Given the description of an element on the screen output the (x, y) to click on. 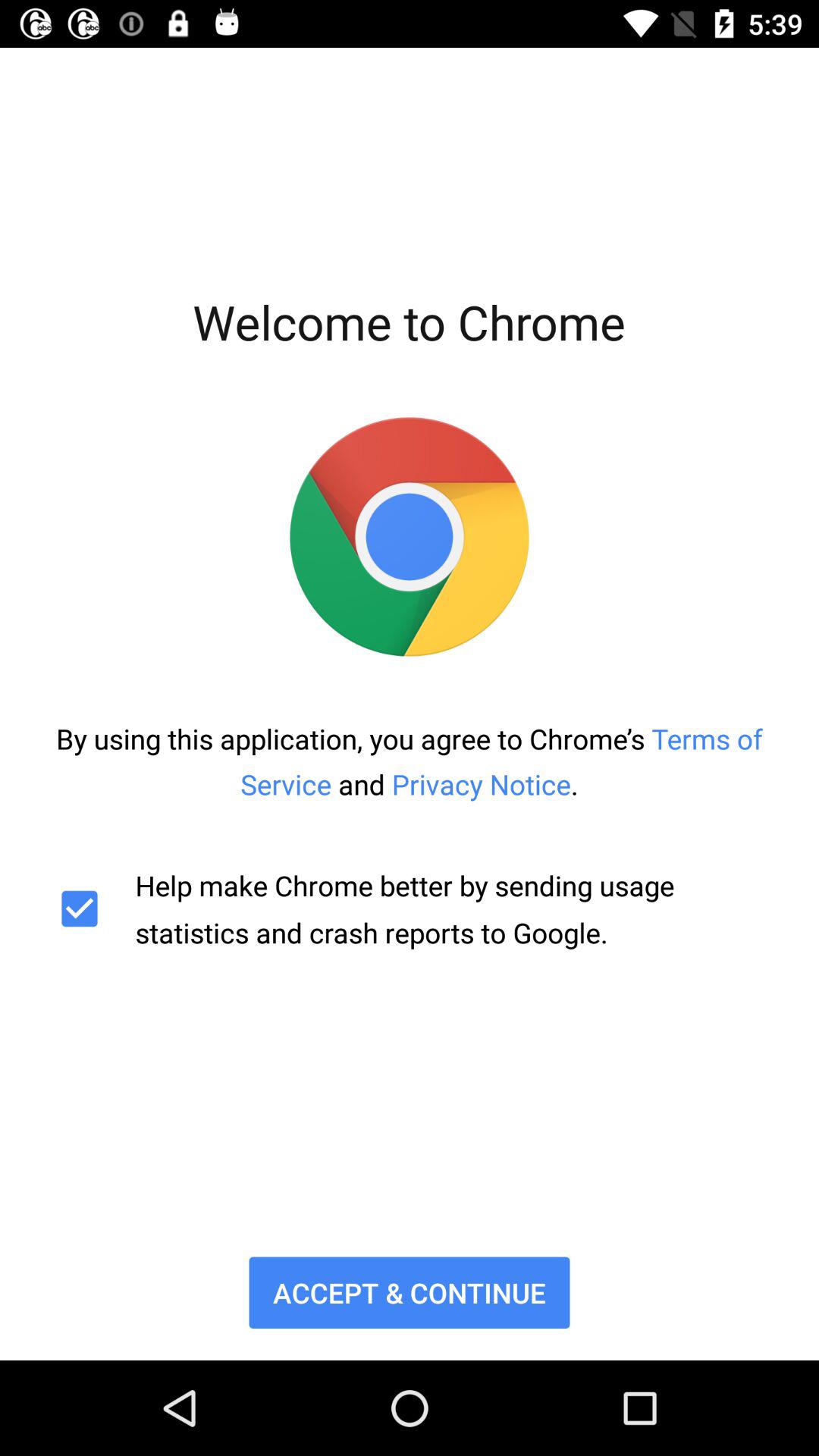
tap the item above the accept & continue (409, 908)
